Given the description of an element on the screen output the (x, y) to click on. 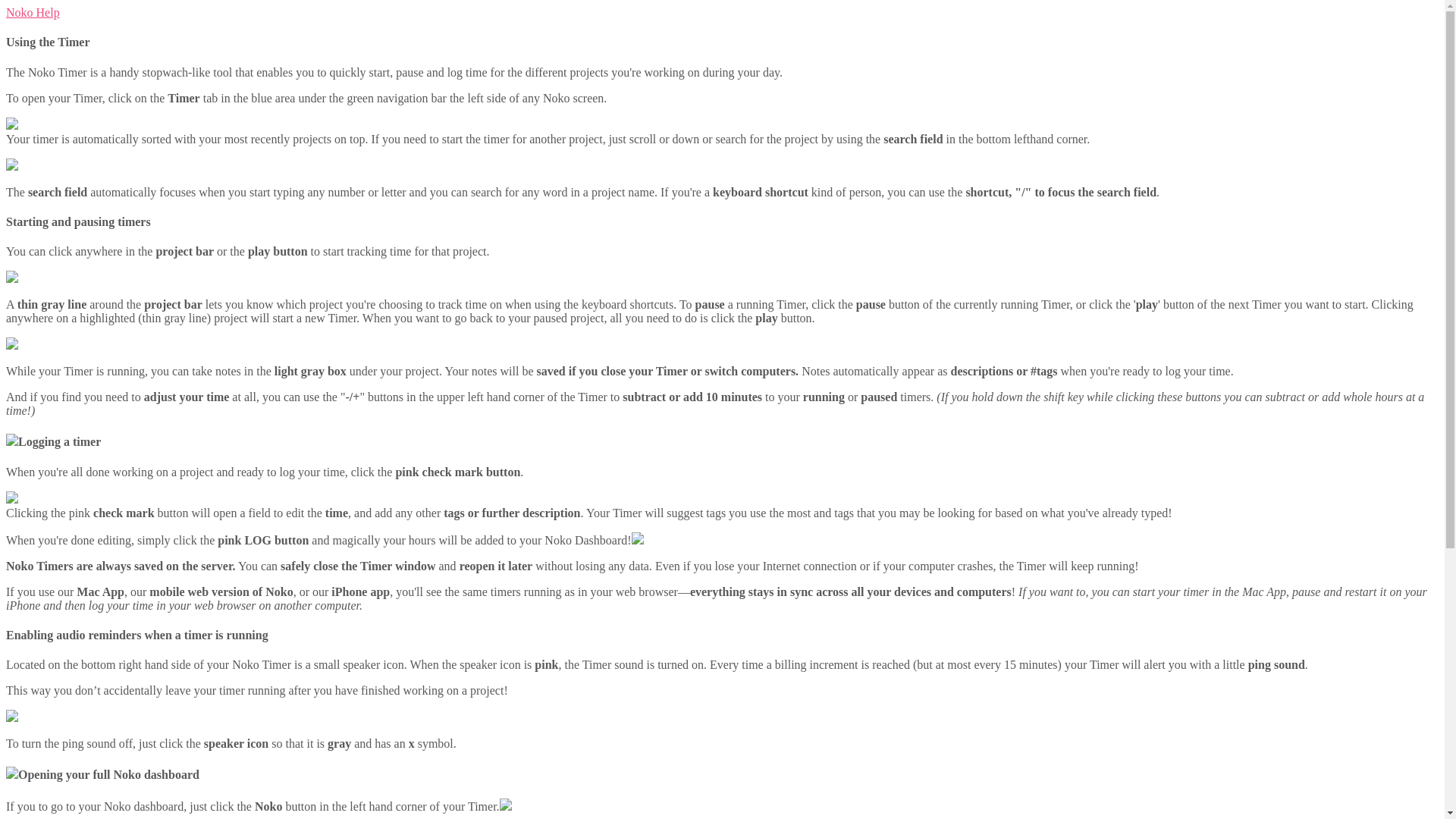
Noko Help (32, 11)
